Given the description of an element on the screen output the (x, y) to click on. 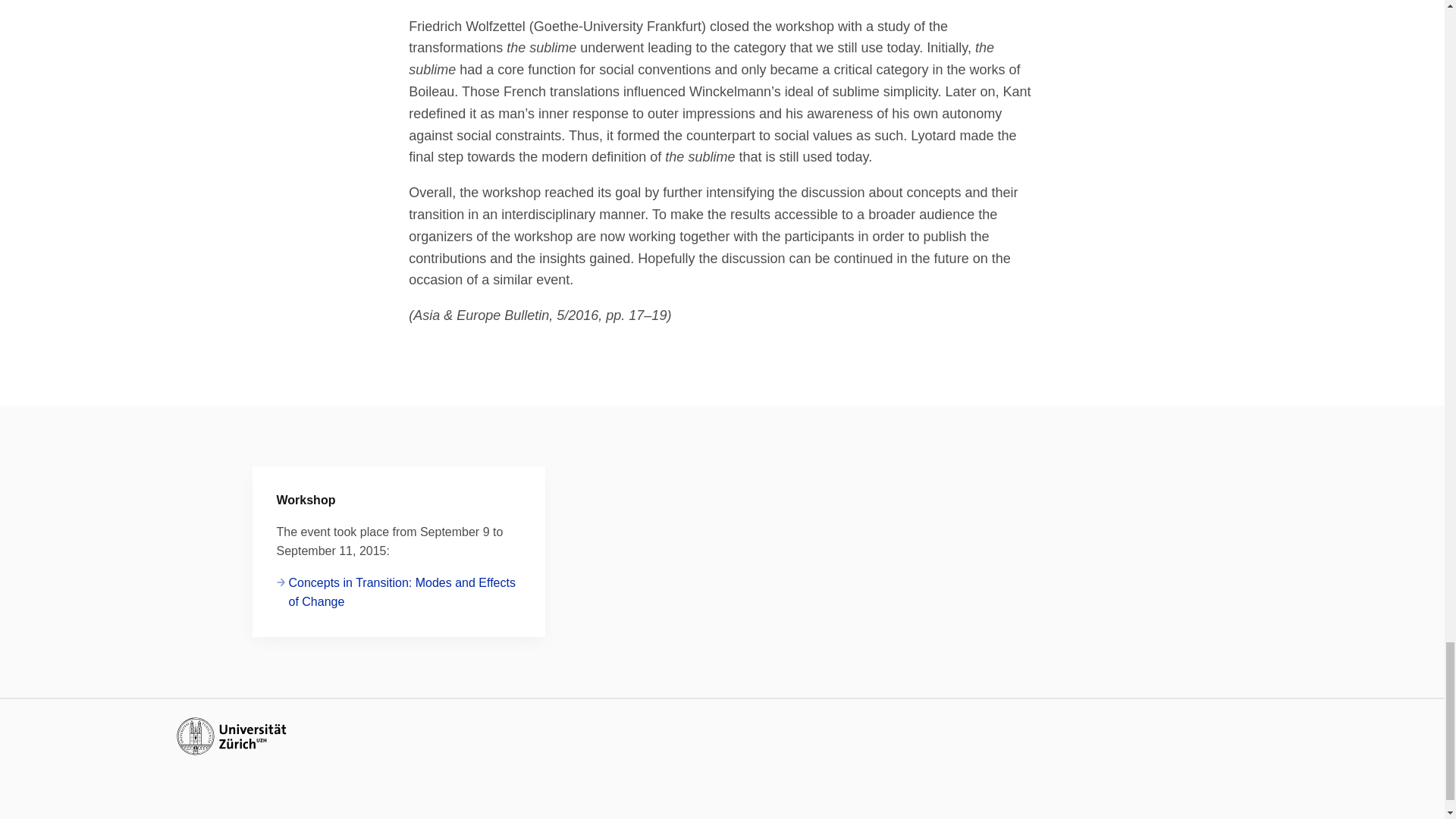
Concepts in Transition: Modes and Effects of Change (398, 592)
Concepts in Transition: Modes and Effects of Change (398, 592)
